Given the description of an element on the screen output the (x, y) to click on. 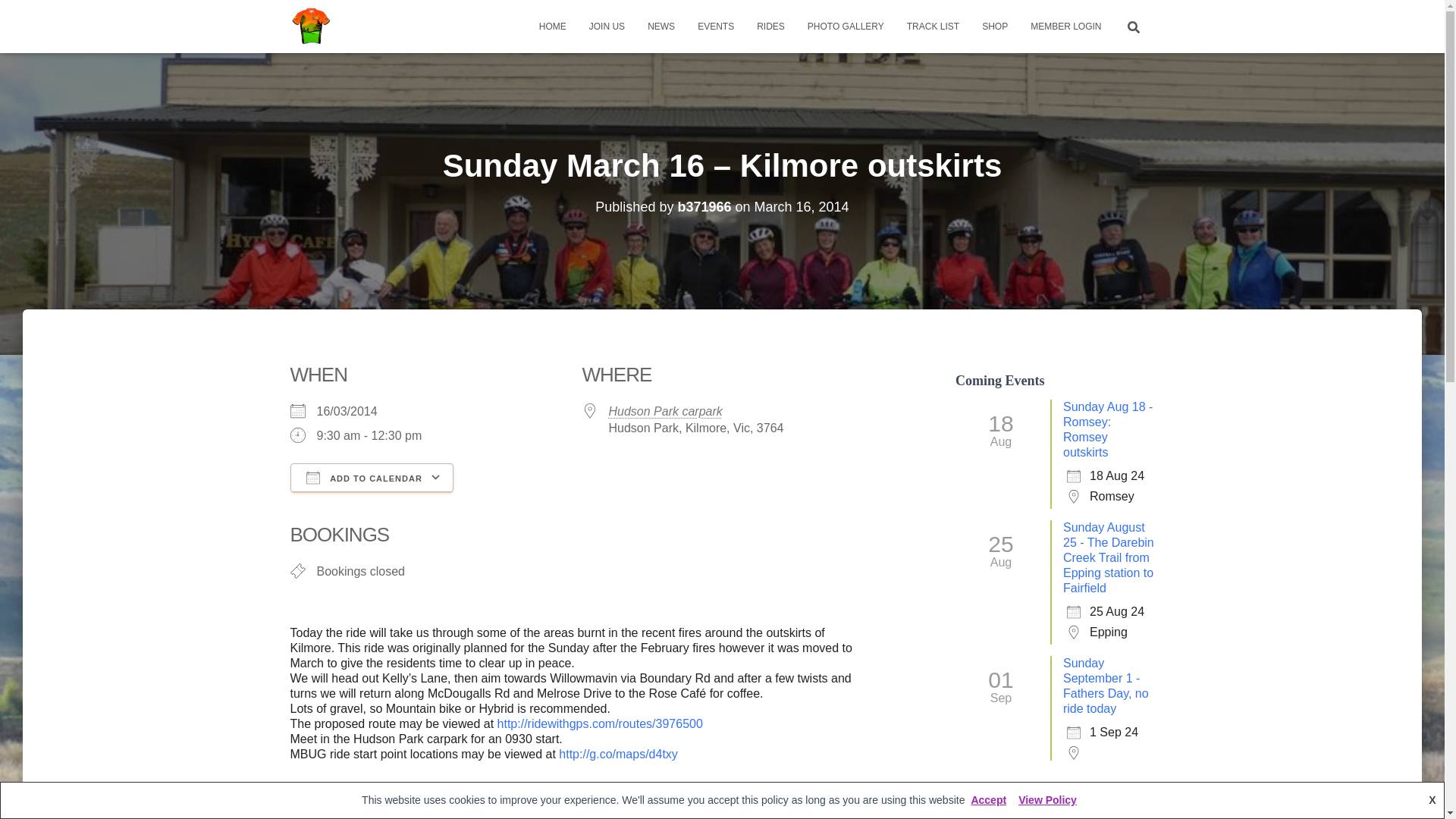
b371966 (703, 206)
JOIN US (607, 26)
Home (552, 26)
SHOP (995, 26)
Hudson Park carpark (665, 410)
Join Us (607, 26)
Shop (995, 26)
ADD TO CALENDAR (370, 477)
RIDES (770, 26)
